Given the description of an element on the screen output the (x, y) to click on. 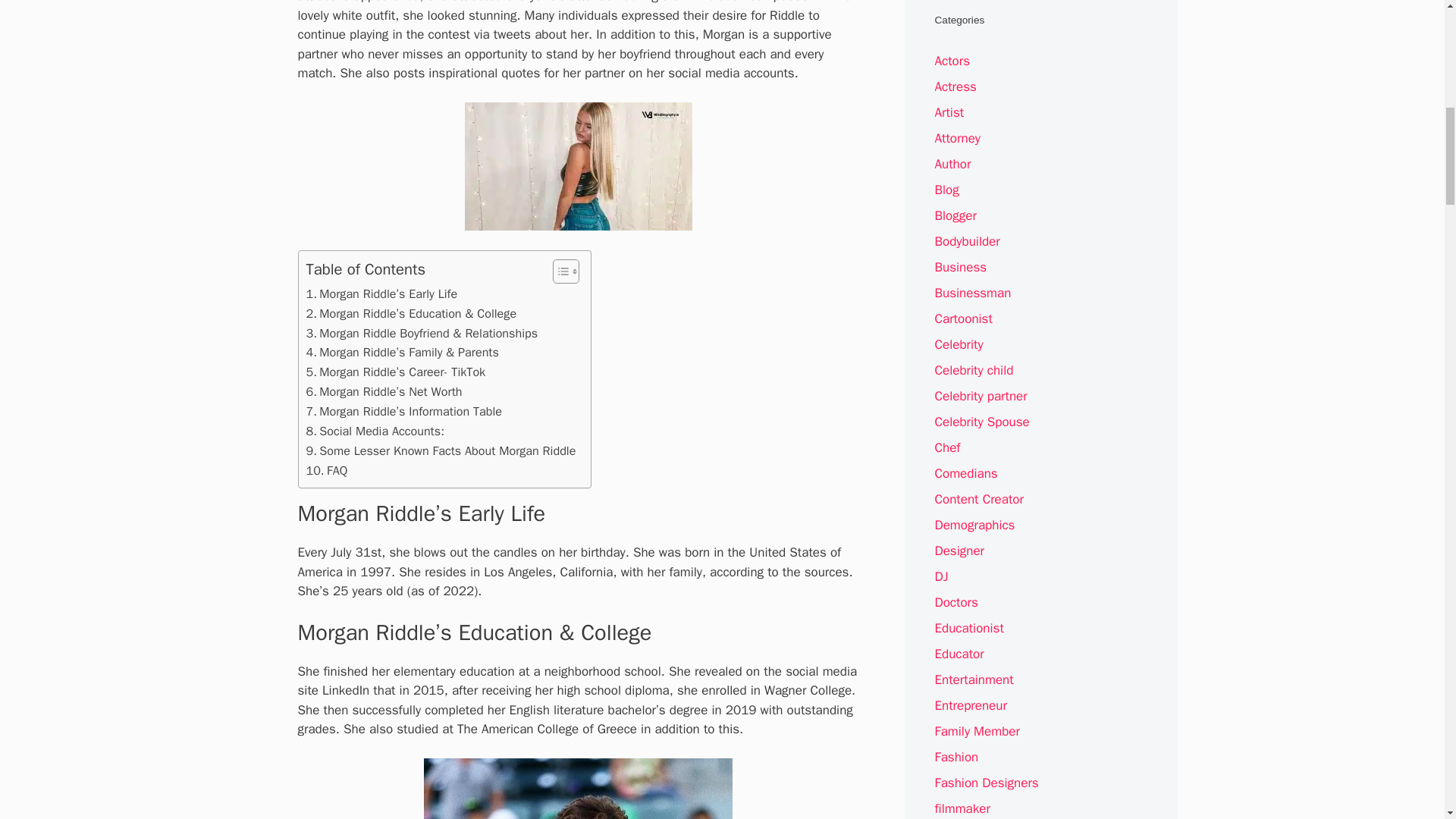
Scroll back to top (1406, 720)
Some Lesser Known Facts About Morgan Riddle (440, 451)
Social Media Accounts: (374, 431)
Some Lesser Known Facts About Morgan Riddle (440, 451)
FAQ (326, 470)
FAQ (326, 470)
Social Media Accounts: (374, 431)
